Given the description of an element on the screen output the (x, y) to click on. 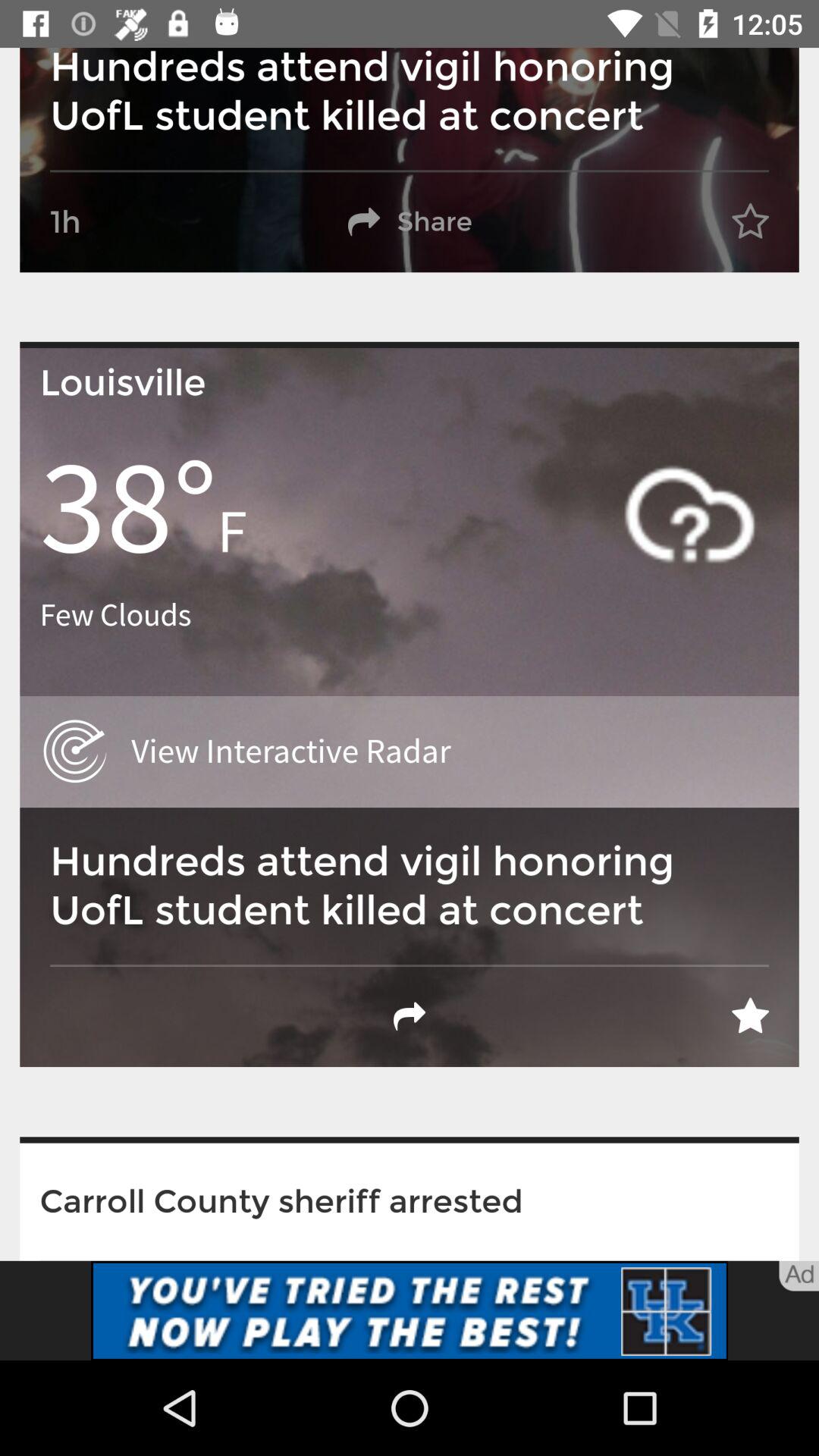
go to the add page (409, 1310)
